Given the description of an element on the screen output the (x, y) to click on. 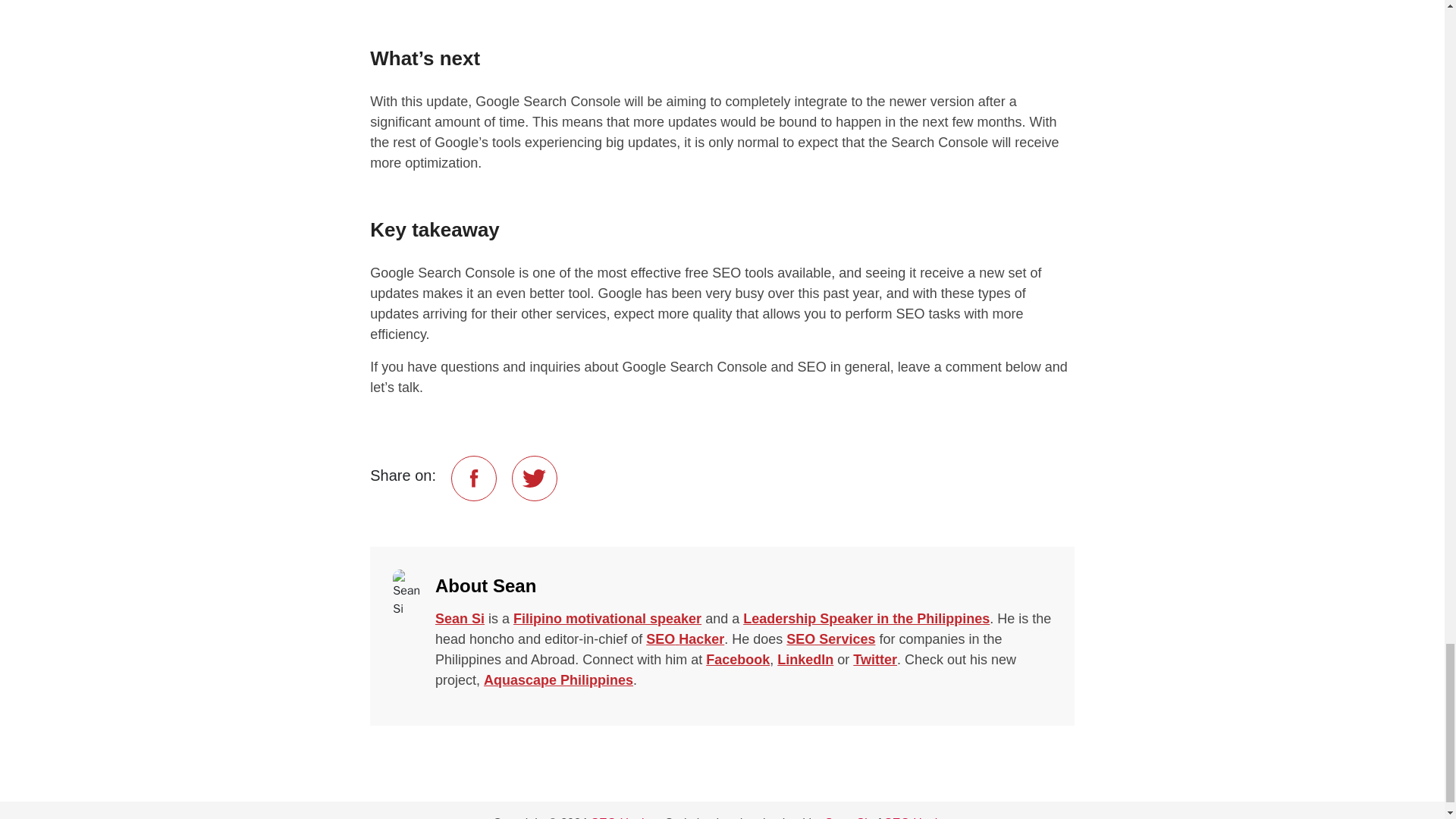
Sean Si Twitter Page (874, 659)
SEO Philippines (830, 639)
Sean Si Facebook Page (738, 659)
SEO in Simple Terms (684, 639)
Sean Si LinkedIn (804, 659)
SEO Hacker Blog (624, 817)
Leadership speaker Philippines (866, 618)
Filipino motivational speaker (607, 618)
